Given the description of an element on the screen output the (x, y) to click on. 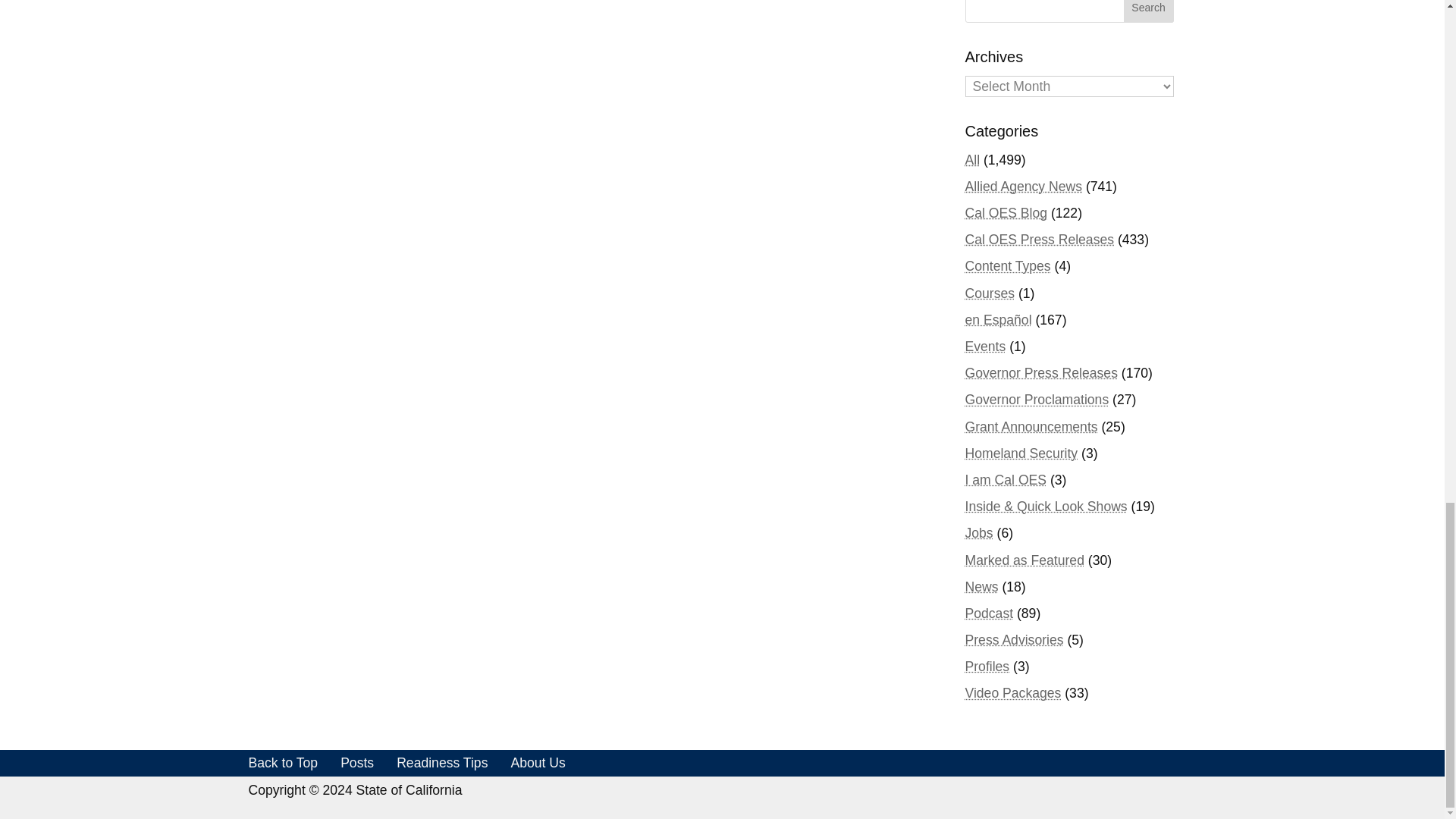
Back to Top (283, 762)
Search (1148, 11)
